Given the description of an element on the screen output the (x, y) to click on. 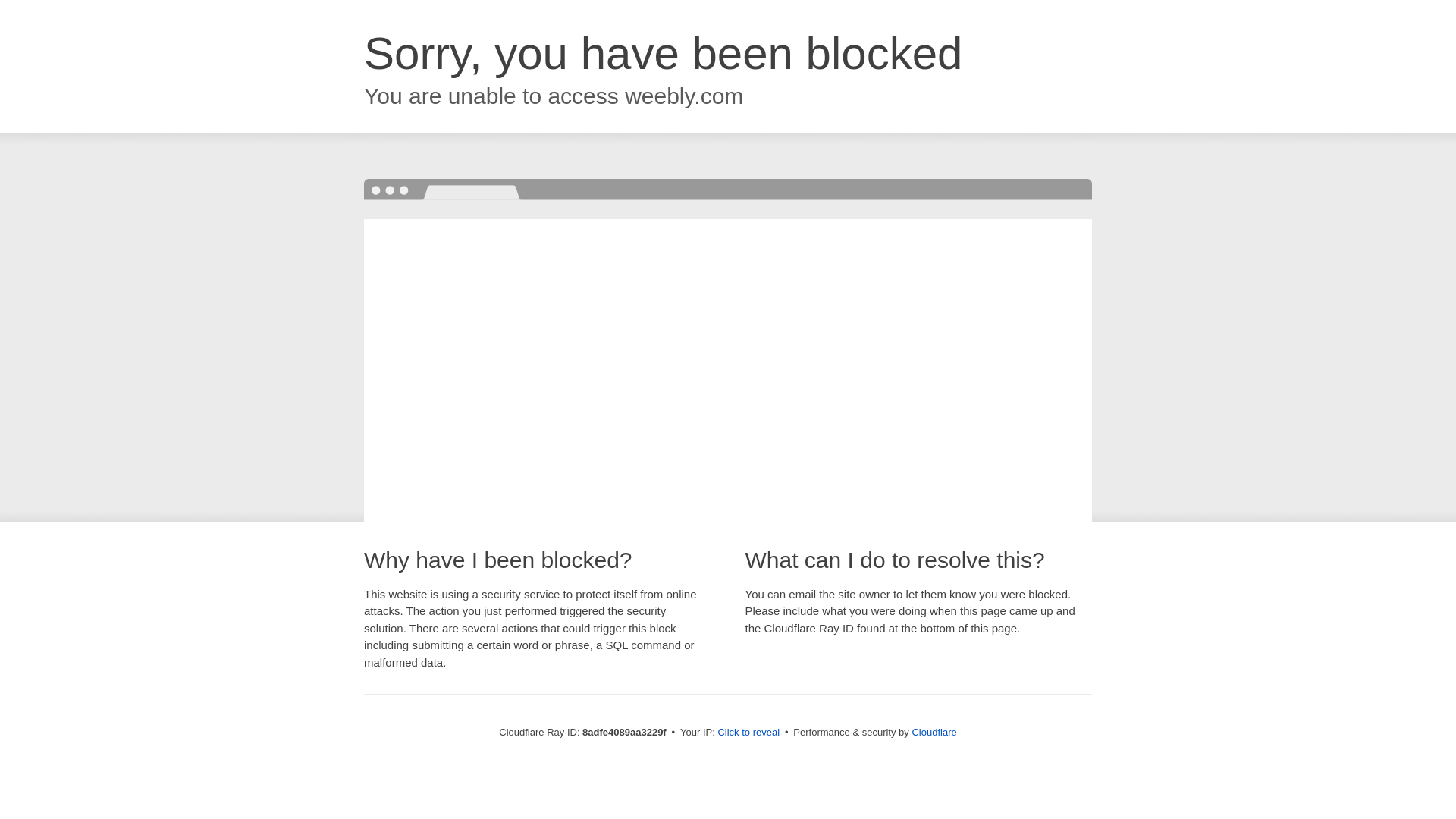
Cloudflare (933, 731)
Click to reveal (747, 732)
